Given the description of an element on the screen output the (x, y) to click on. 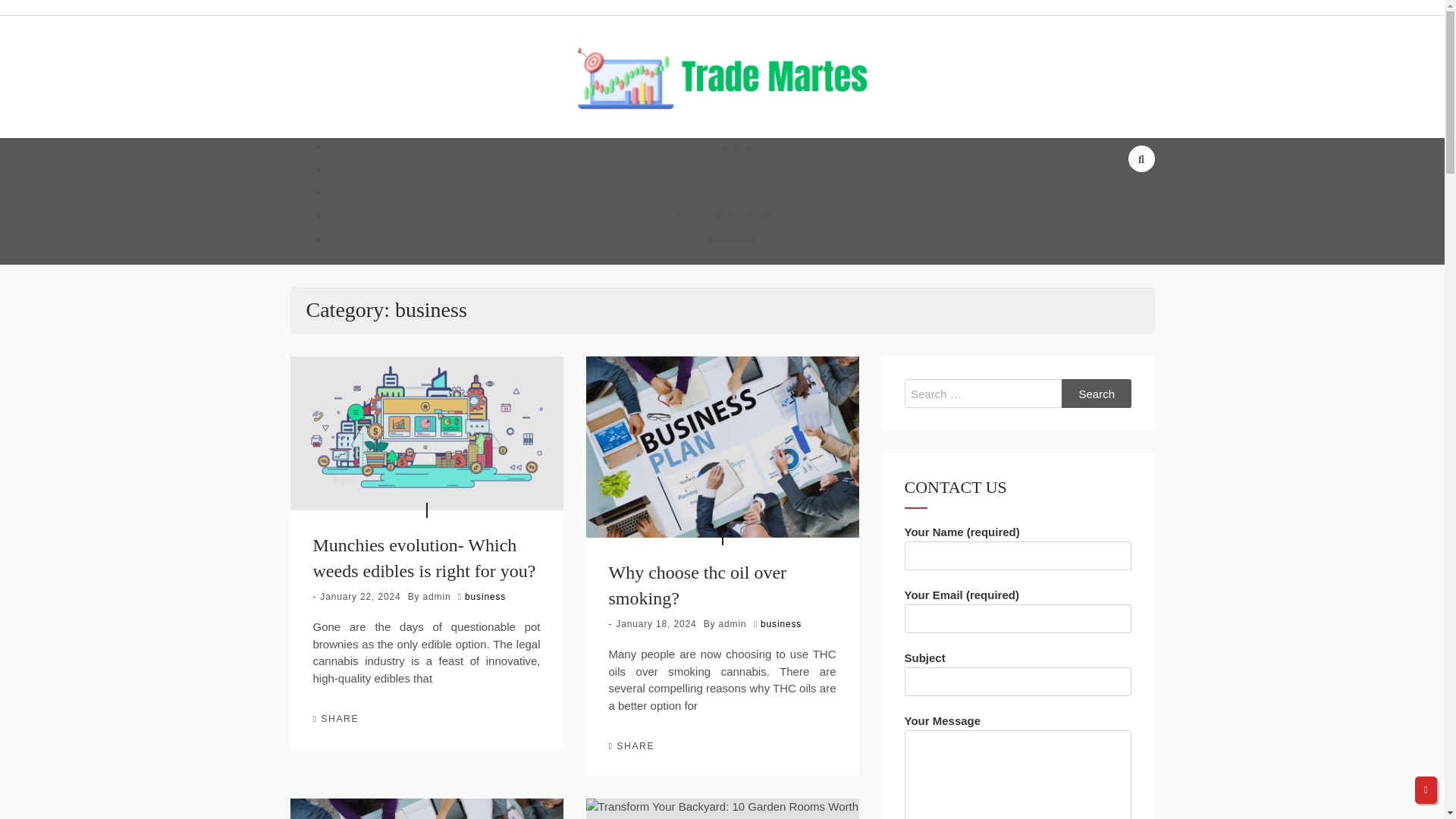
Search (1096, 393)
Search (1096, 393)
business (484, 596)
Gossip Entertainment (731, 215)
Why choose thc oil over smoking? (697, 585)
Marketing (730, 237)
Munchies evolution- Which weeds edibles is right for you? (424, 557)
admin (732, 624)
Entrepreneurship (730, 192)
January 22, 2024 (360, 596)
admin (437, 596)
January 18, 2024 (655, 624)
Trade Martes (675, 138)
Business Schools (730, 169)
business (729, 145)
